Given the description of an element on the screen output the (x, y) to click on. 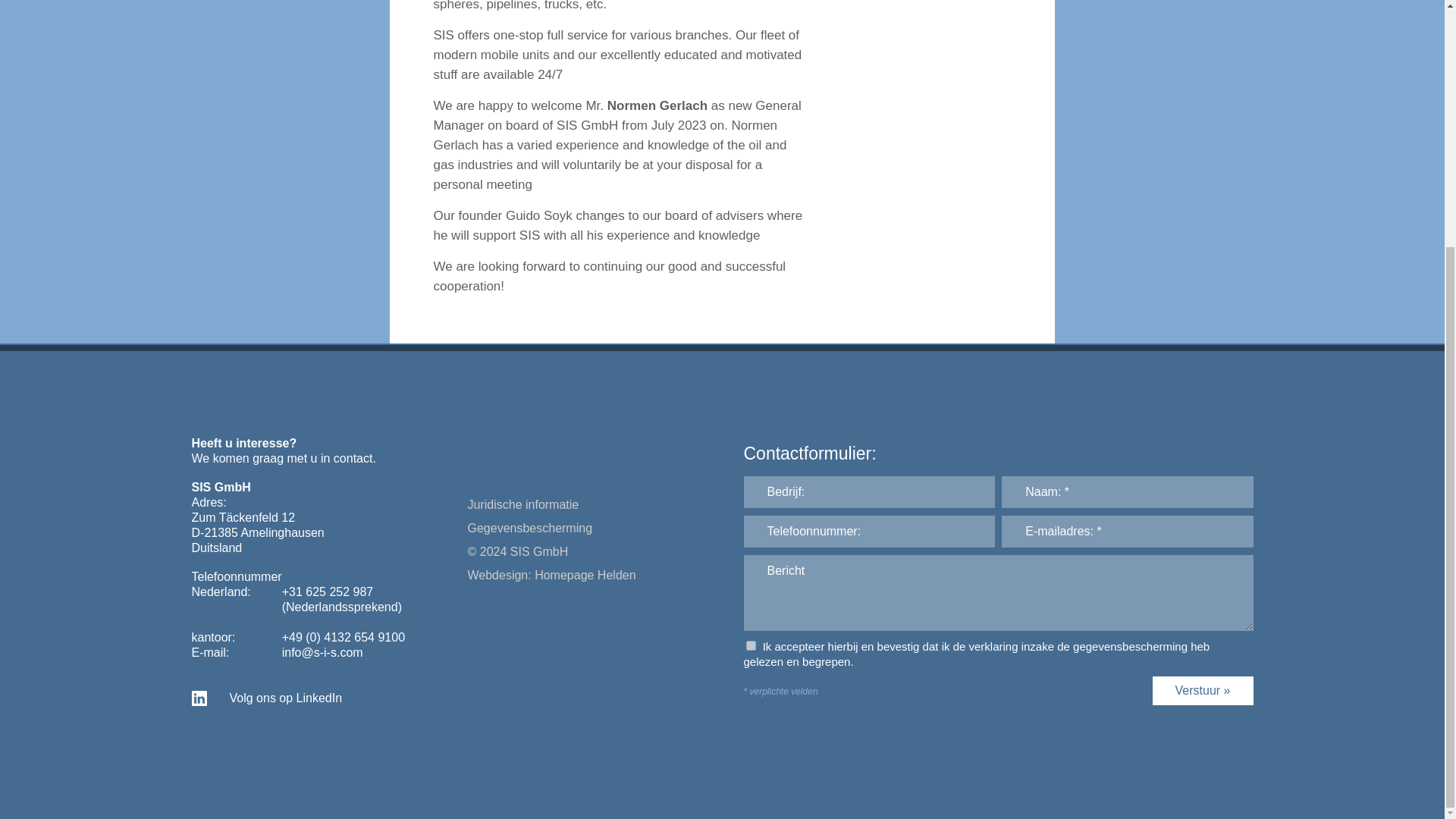
Gegevensbescherming (529, 560)
Juridische informatie (522, 539)
Volg ons op LinkedIn (285, 739)
Webdesign: Homepage Helden (550, 603)
